Given the description of an element on the screen output the (x, y) to click on. 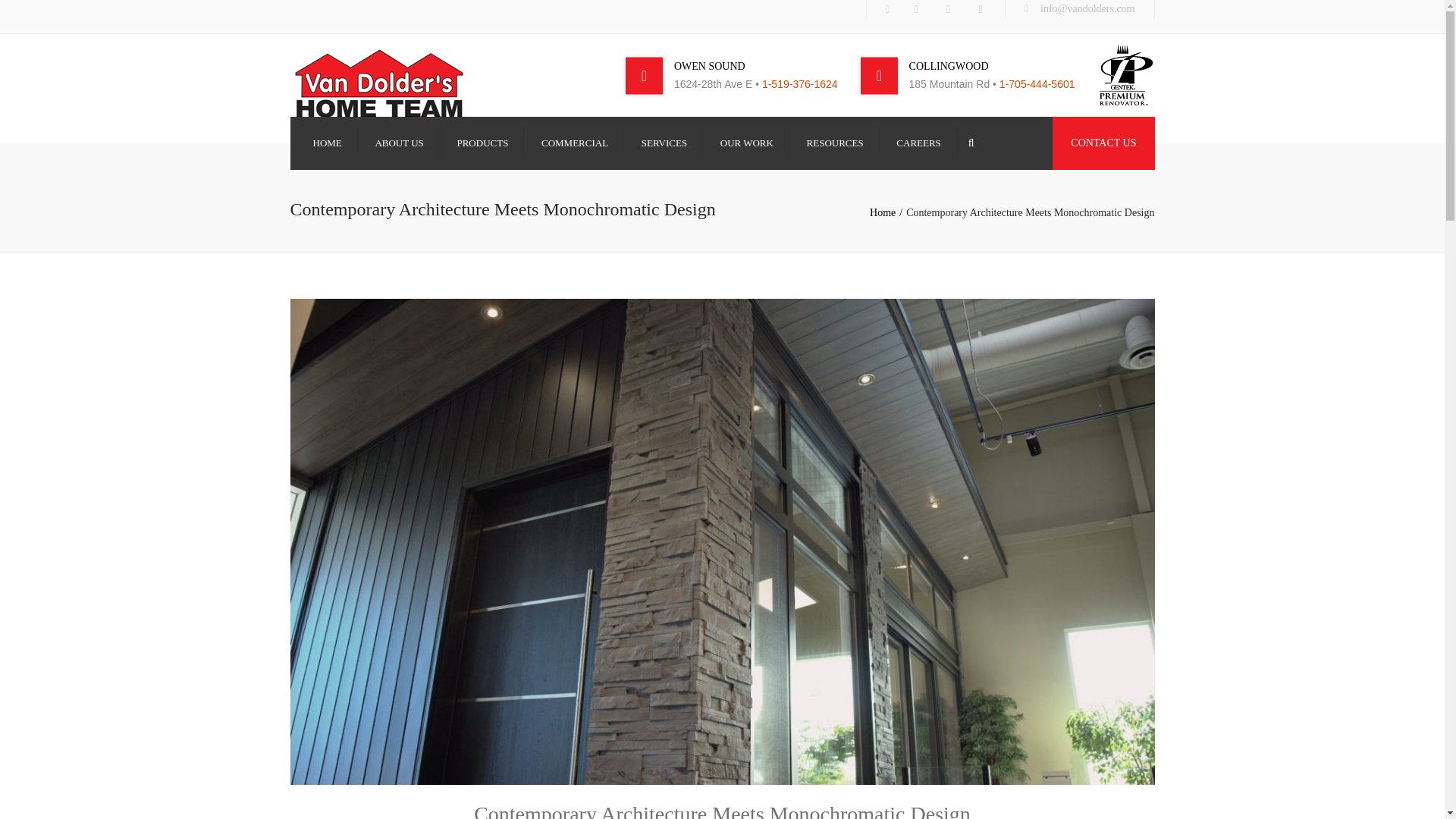
HOME (326, 143)
ABOUT US (398, 143)
OUR WORK (746, 143)
COMMERCIAL (574, 143)
RESOURCES (834, 143)
1-519-376-1624 (799, 82)
CAREERS (918, 143)
Search (970, 143)
1-705-444-5601 (1036, 82)
SERVICES (663, 143)
PRODUCTS (481, 143)
